Given the description of an element on the screen output the (x, y) to click on. 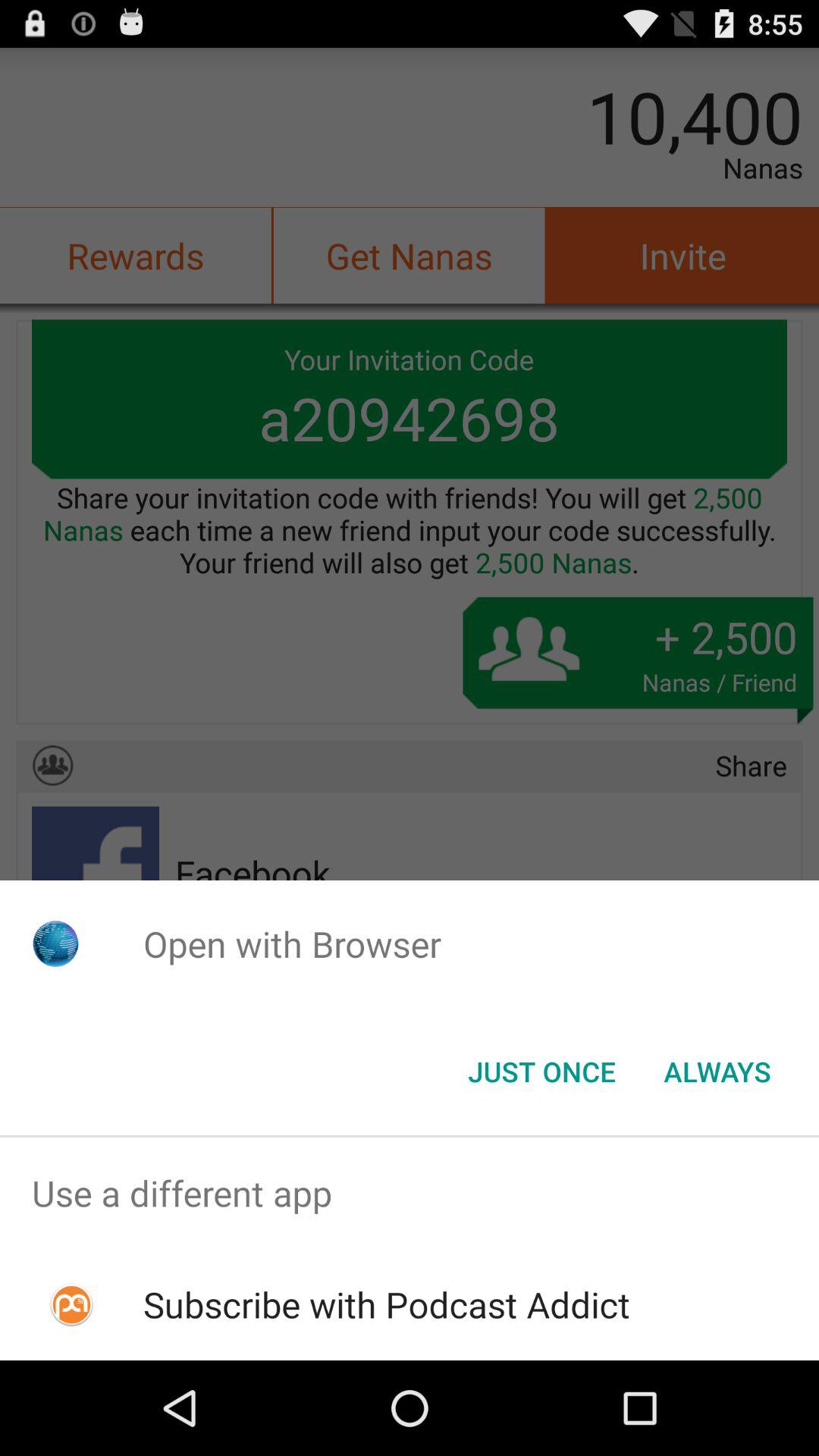
turn off the subscribe with podcast item (386, 1304)
